Given the description of an element on the screen output the (x, y) to click on. 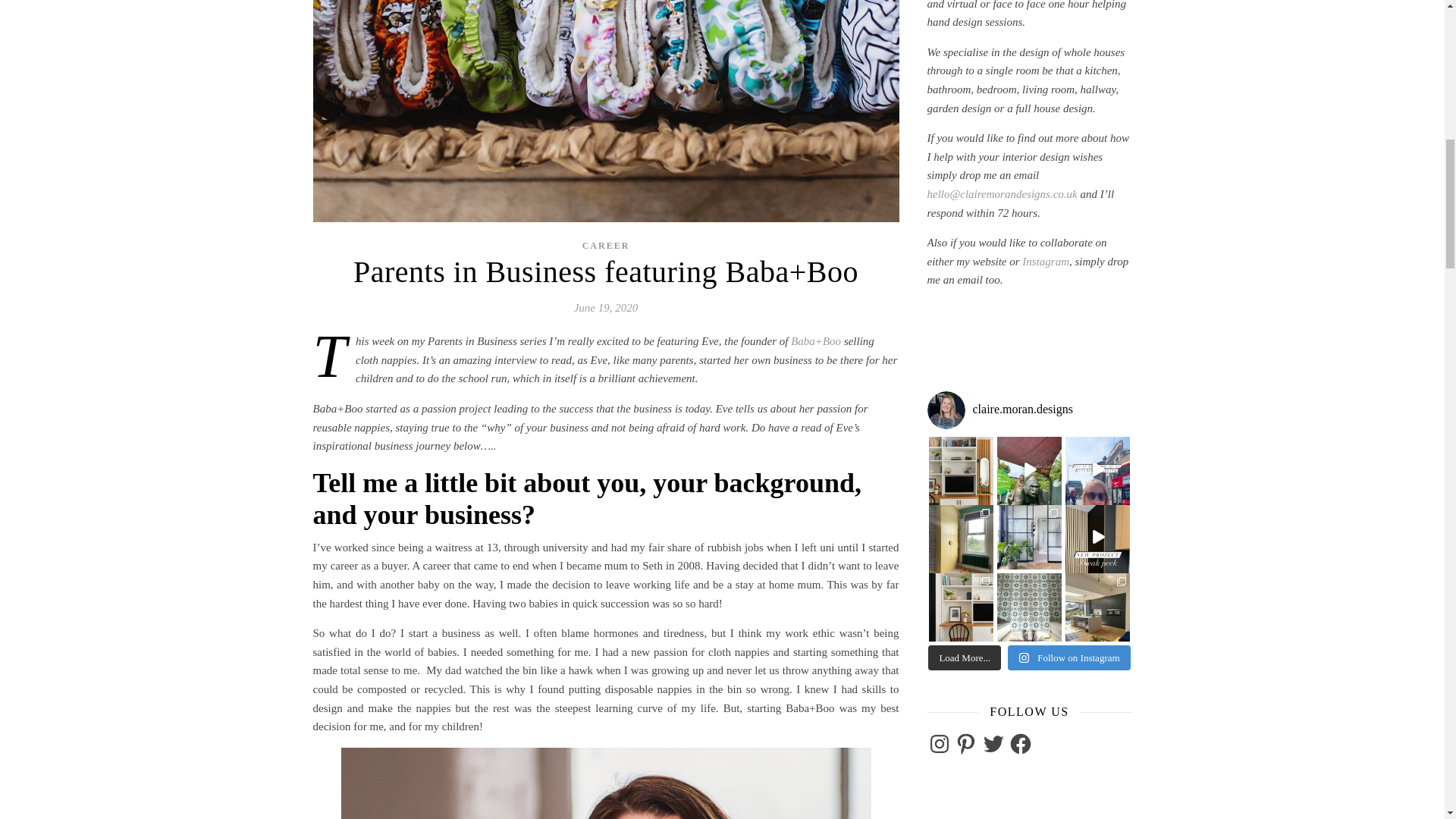
CAREER (606, 245)
